Given the description of an element on the screen output the (x, y) to click on. 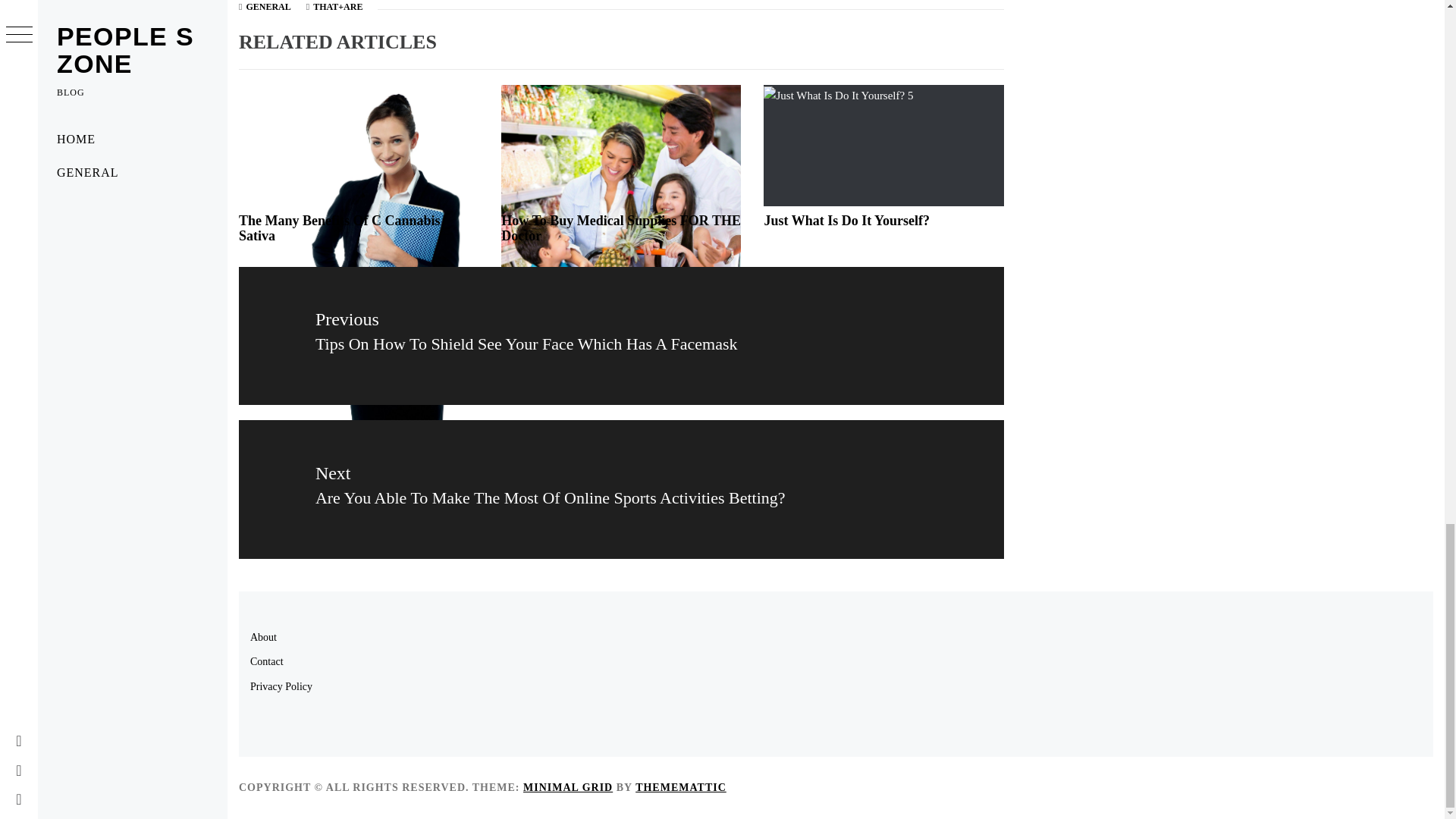
GENERAL (267, 6)
Just What Is Do It Yourself? (846, 220)
How To Buy Medical Supplies FOR THE Doctor (620, 227)
The Many Benefits Of C Cannabis Sativa (339, 227)
